Given the description of an element on the screen output the (x, y) to click on. 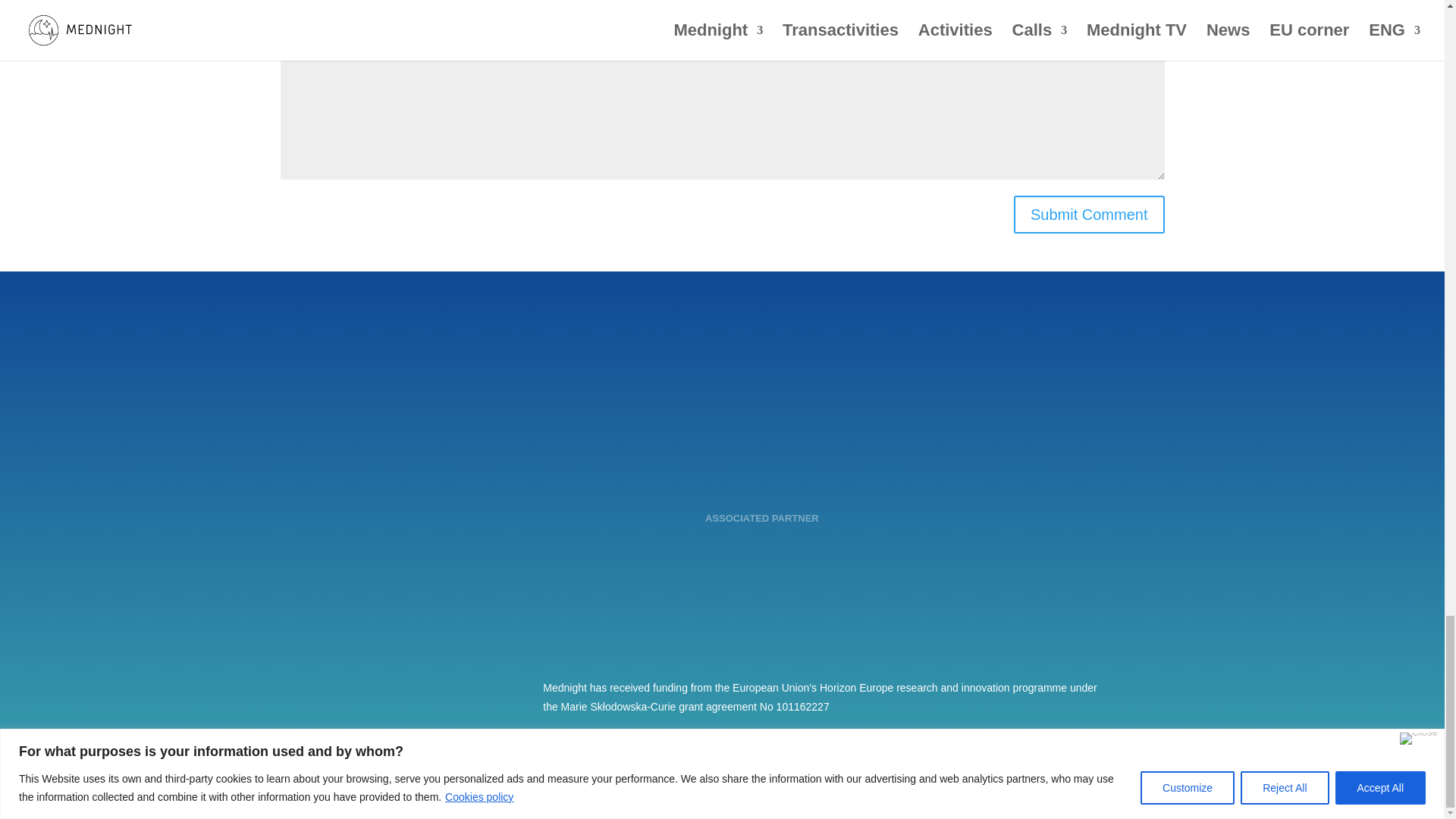
Submit Comment (1088, 214)
yes (288, 12)
